Given the description of an element on the screen output the (x, y) to click on. 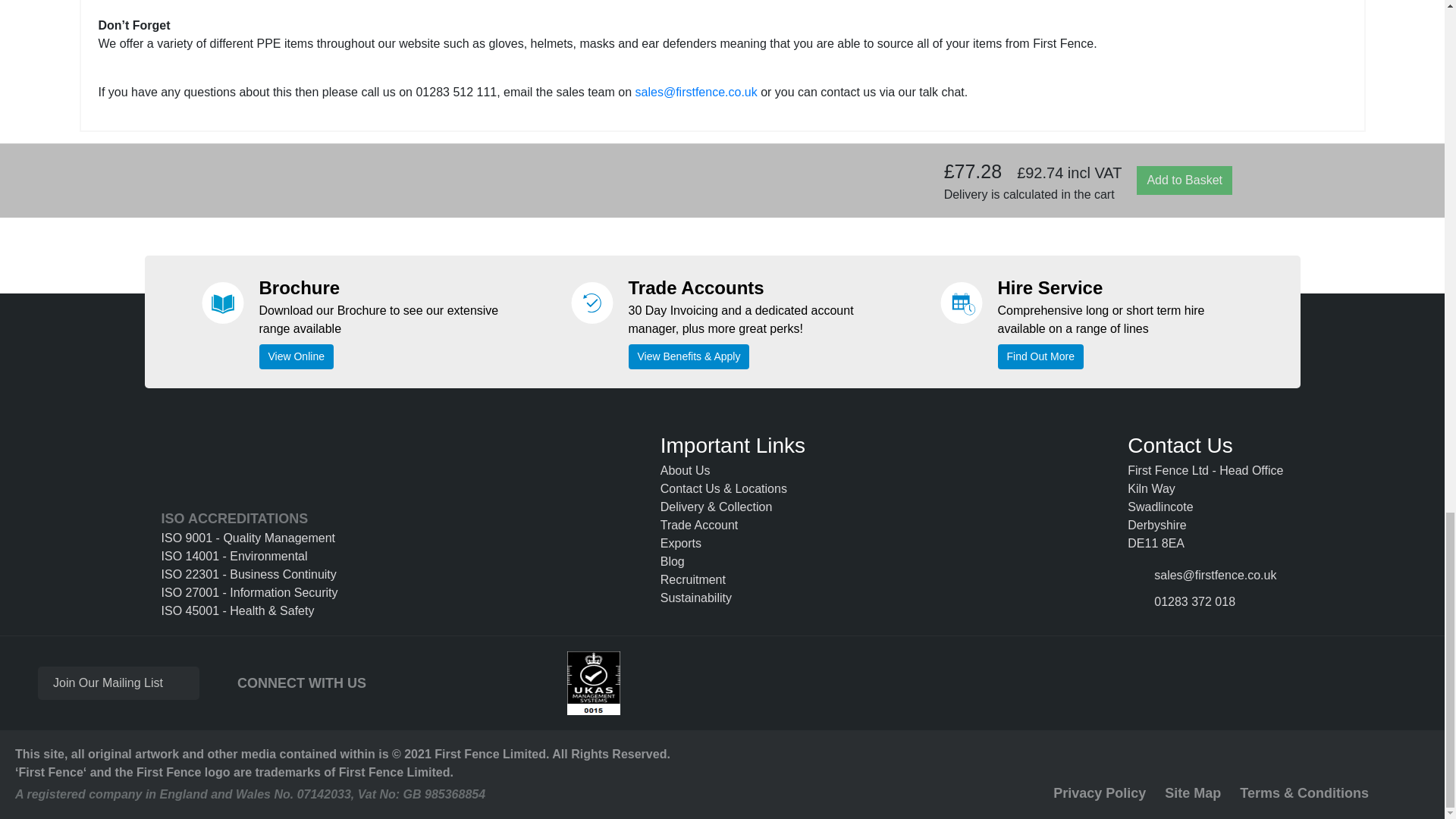
ISO 9001 - Quality Management (249, 538)
Find Out More (1040, 356)
ISO 14001 - Environmental (249, 556)
ISO 27001 - Information Security (249, 592)
ISO 22301 - Business Continuity (249, 574)
View Online (296, 356)
